Given the description of an element on the screen output the (x, y) to click on. 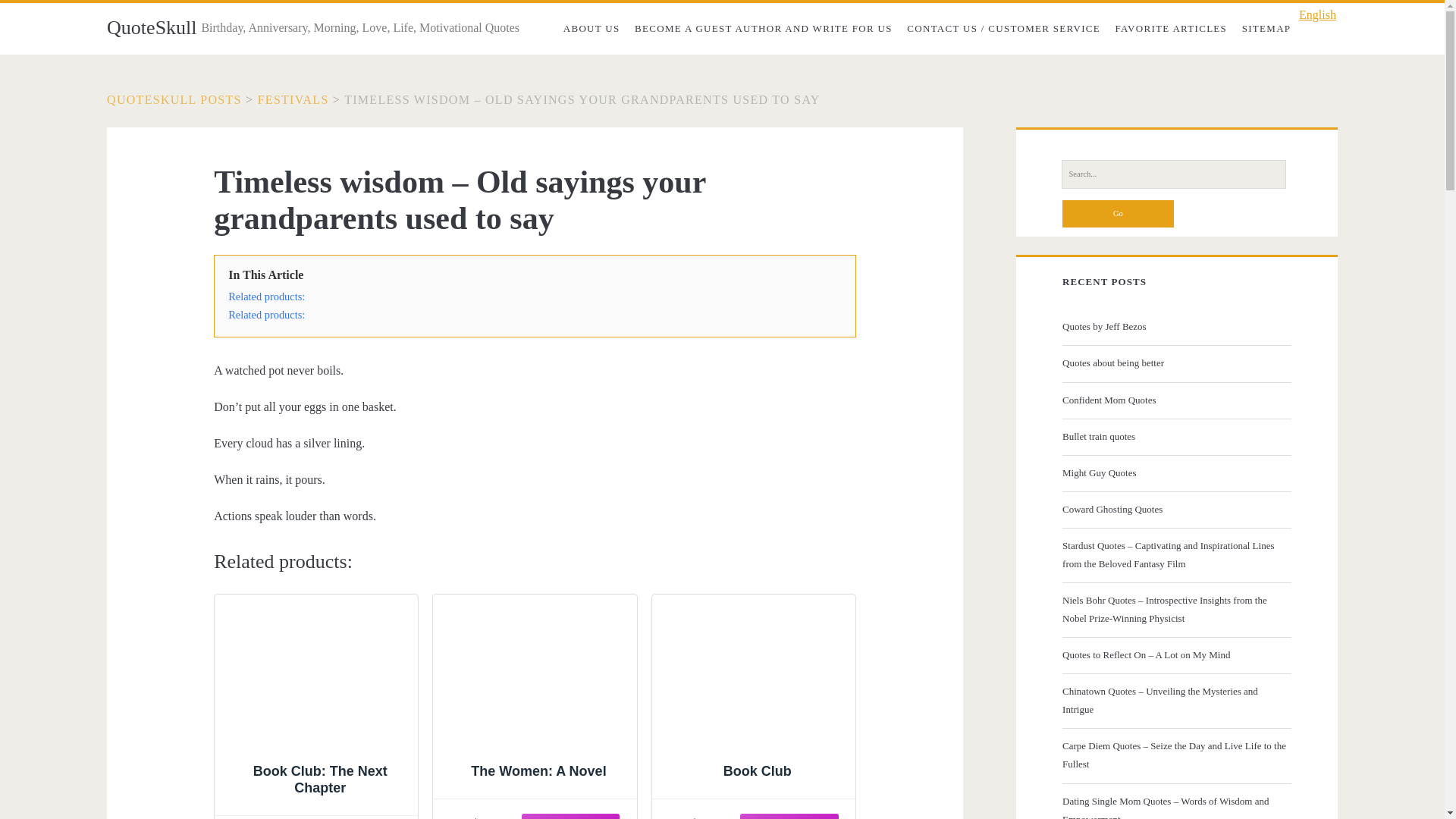
QUOTESKULL POSTS (173, 99)
English (1313, 15)
Go (1117, 213)
Confident Mom Quotes (1174, 400)
Related products: (266, 296)
Book Club: The Next Chapter (316, 707)
Go (1117, 213)
QuoteSkull (151, 27)
Quotes about being better (1174, 362)
FAVORITE ARTICLES (1171, 28)
